Given the description of an element on the screen output the (x, y) to click on. 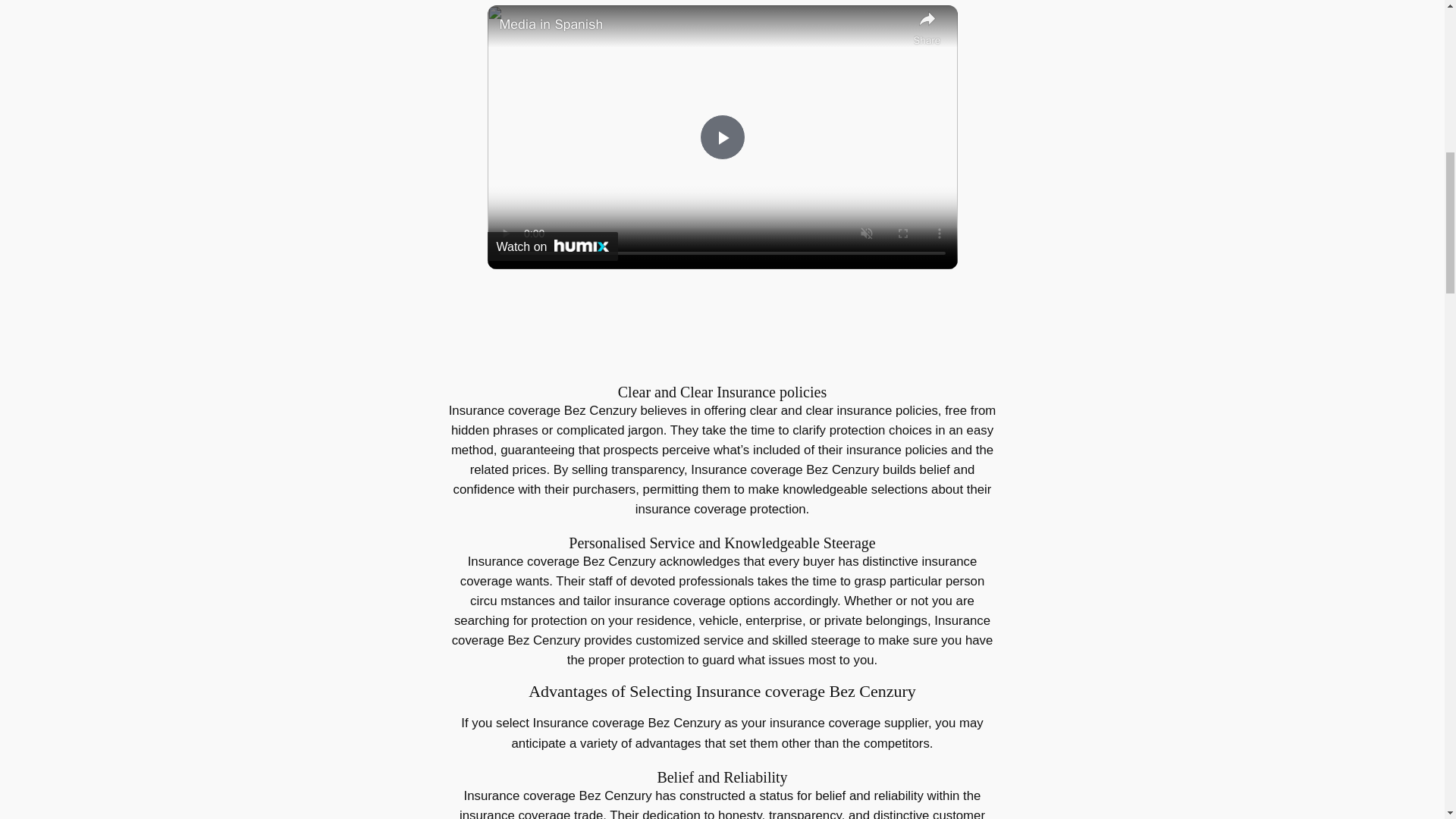
Watch on (551, 246)
Media in Spanish (702, 25)
Play Video (721, 136)
Play Video (721, 136)
